Given the description of an element on the screen output the (x, y) to click on. 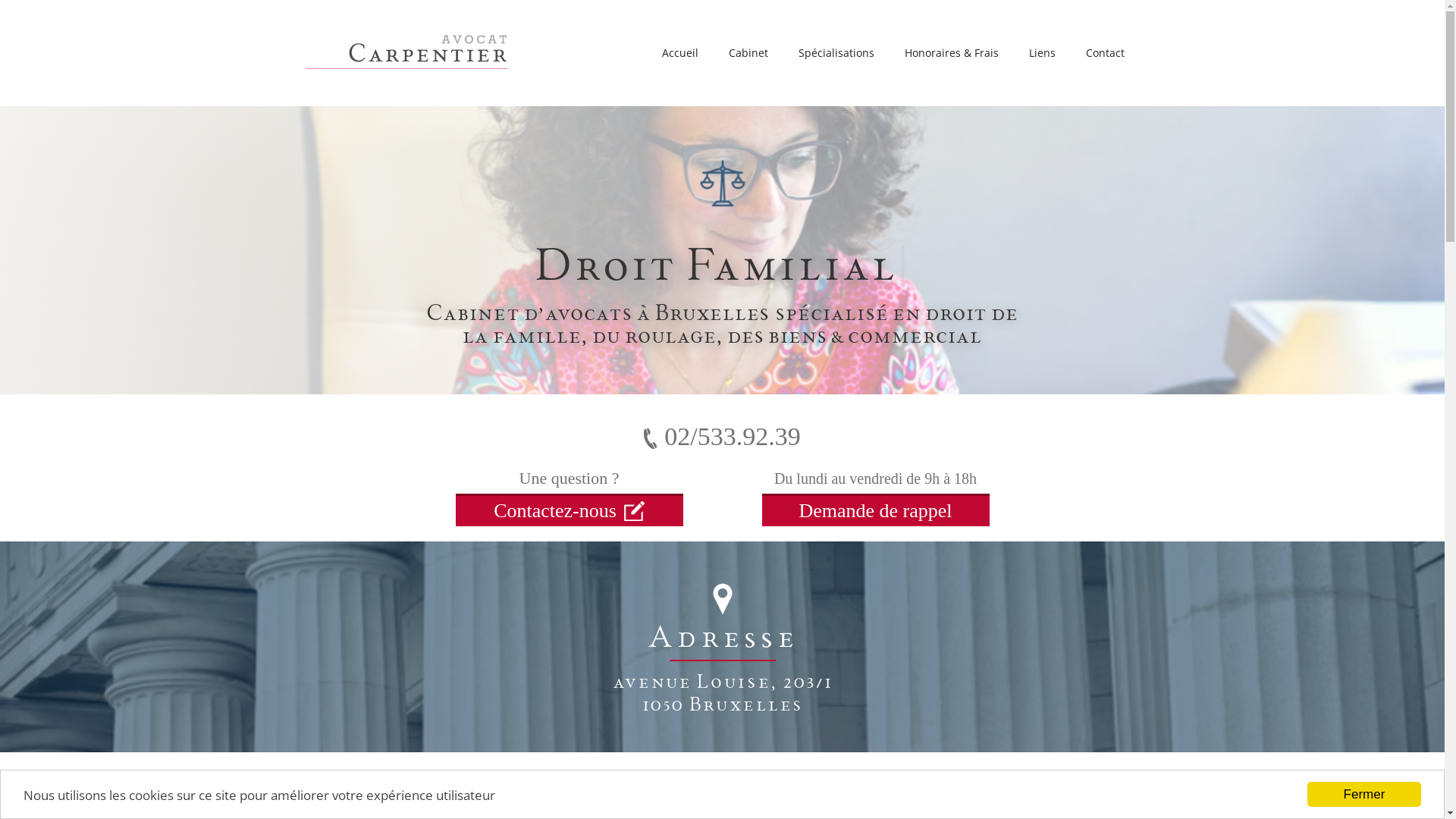
Cabinet Element type: text (747, 52)
Liens Element type: text (1041, 52)
Contactez-nous Element type: text (568, 509)
Contact Element type: text (1104, 52)
Demande de rappel Element type: text (874, 509)
Fermer Element type: text (1364, 793)
avenue Louise, 203/1
1050 Bruxelles Element type: text (722, 691)
Accueil Element type: text (679, 52)
Honoraires & Frais Element type: text (950, 52)
